Given the description of an element on the screen output the (x, y) to click on. 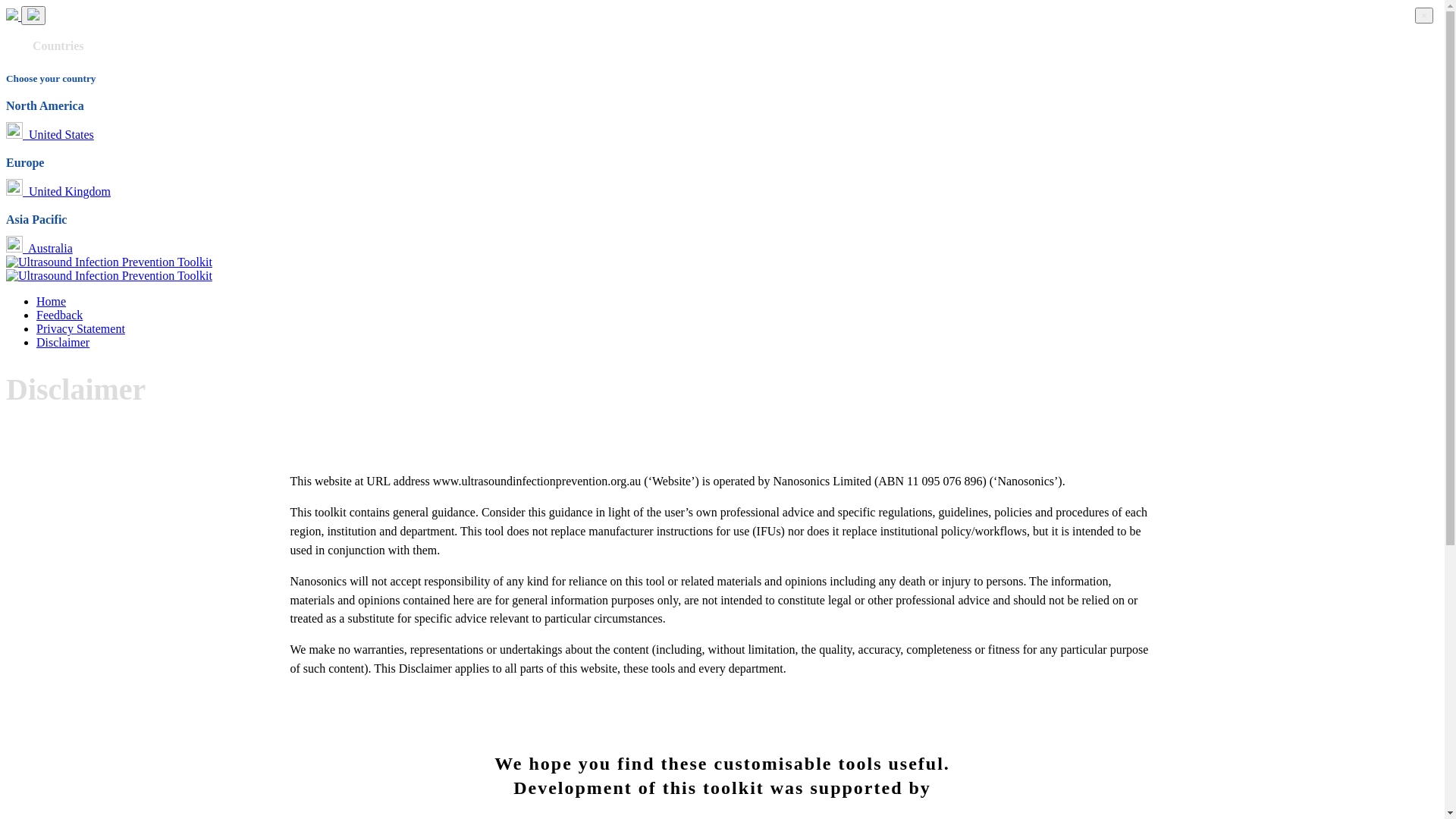
Disclaimer Element type: text (62, 341)
Feedback Element type: text (59, 314)
  United Kingdom Element type: text (58, 191)
  Australia Element type: text (39, 247)
Home Element type: text (50, 300)
Privacy Statement Element type: text (80, 328)
  United States Element type: text (50, 134)
